Given the description of an element on the screen output the (x, y) to click on. 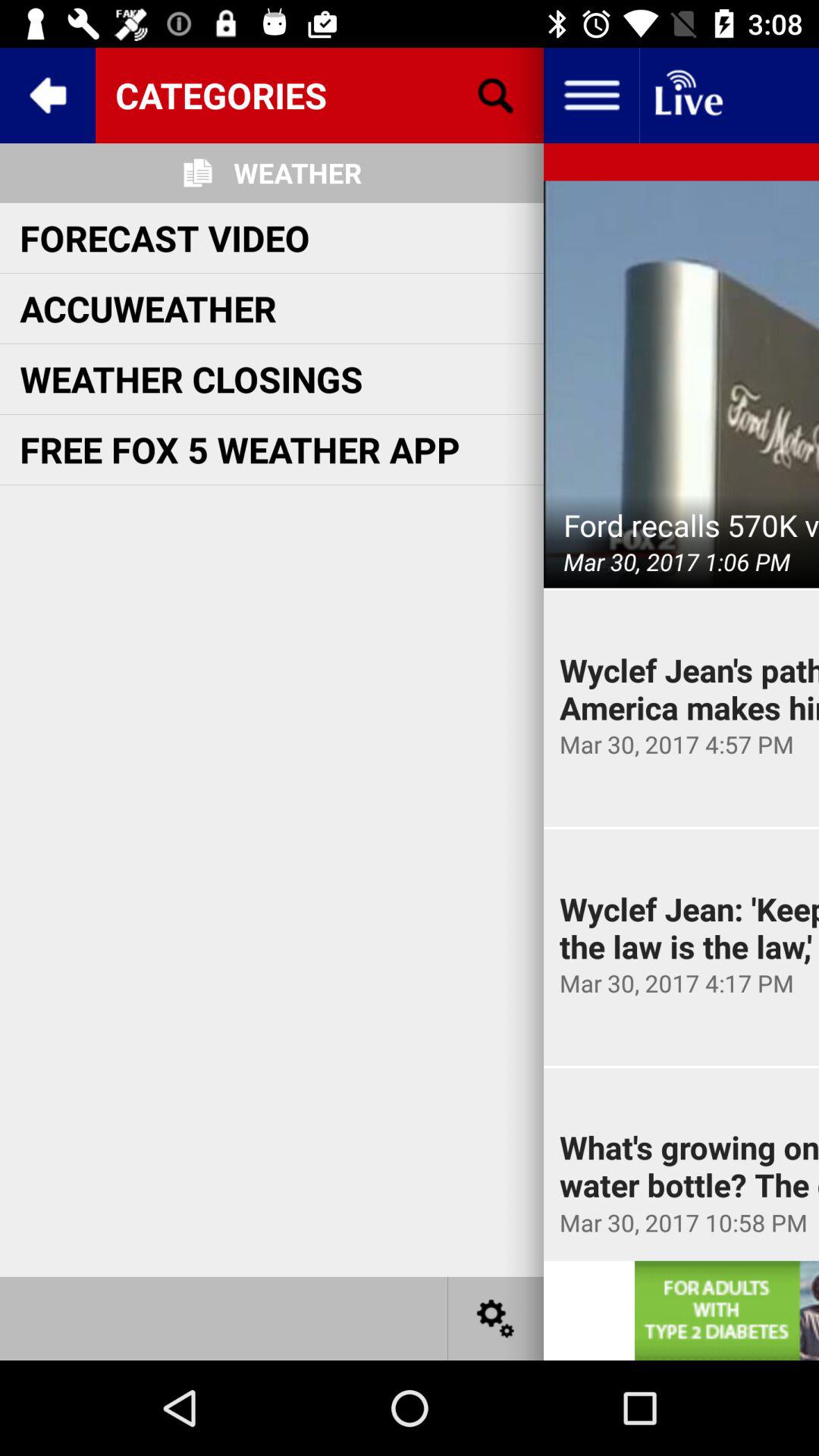
go to livecast (687, 95)
